Given the description of an element on the screen output the (x, y) to click on. 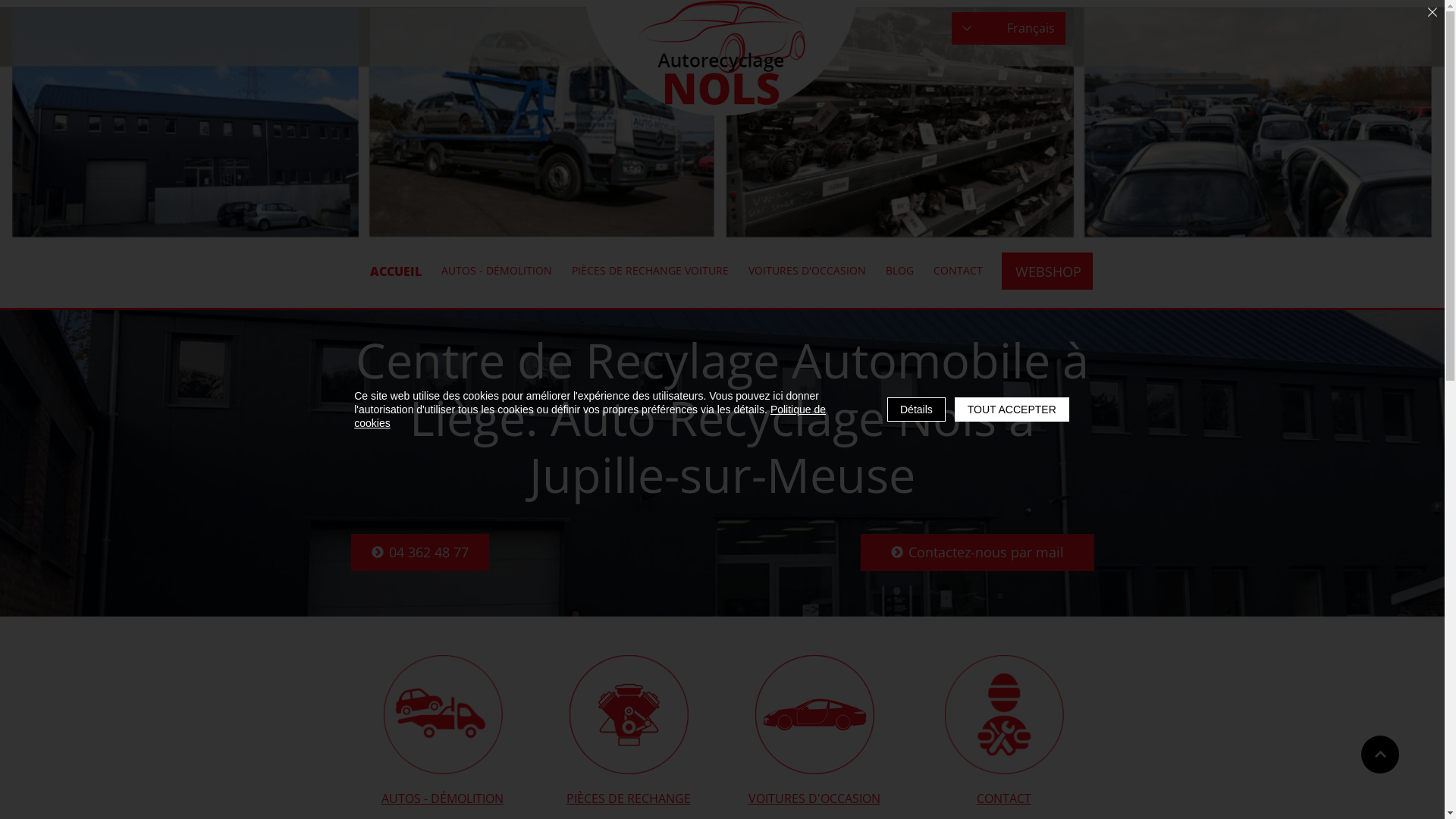
ACCUEIL Element type: text (395, 271)
Contactez-nous par mail Element type: text (976, 552)
VOITURES D'OCCASION Element type: text (814, 798)
CONTACT Element type: text (957, 270)
BLOG Element type: text (899, 270)
VOITURES D'OCCASION Element type: text (806, 270)
04 362 48 77 Element type: text (419, 552)
TOUT ACCEPTER Element type: text (1011, 409)
WEBSHOP Element type: text (1046, 270)
CONTACT Element type: text (1003, 798)
Politique de cookies Element type: text (589, 416)
